Given the description of an element on the screen output the (x, y) to click on. 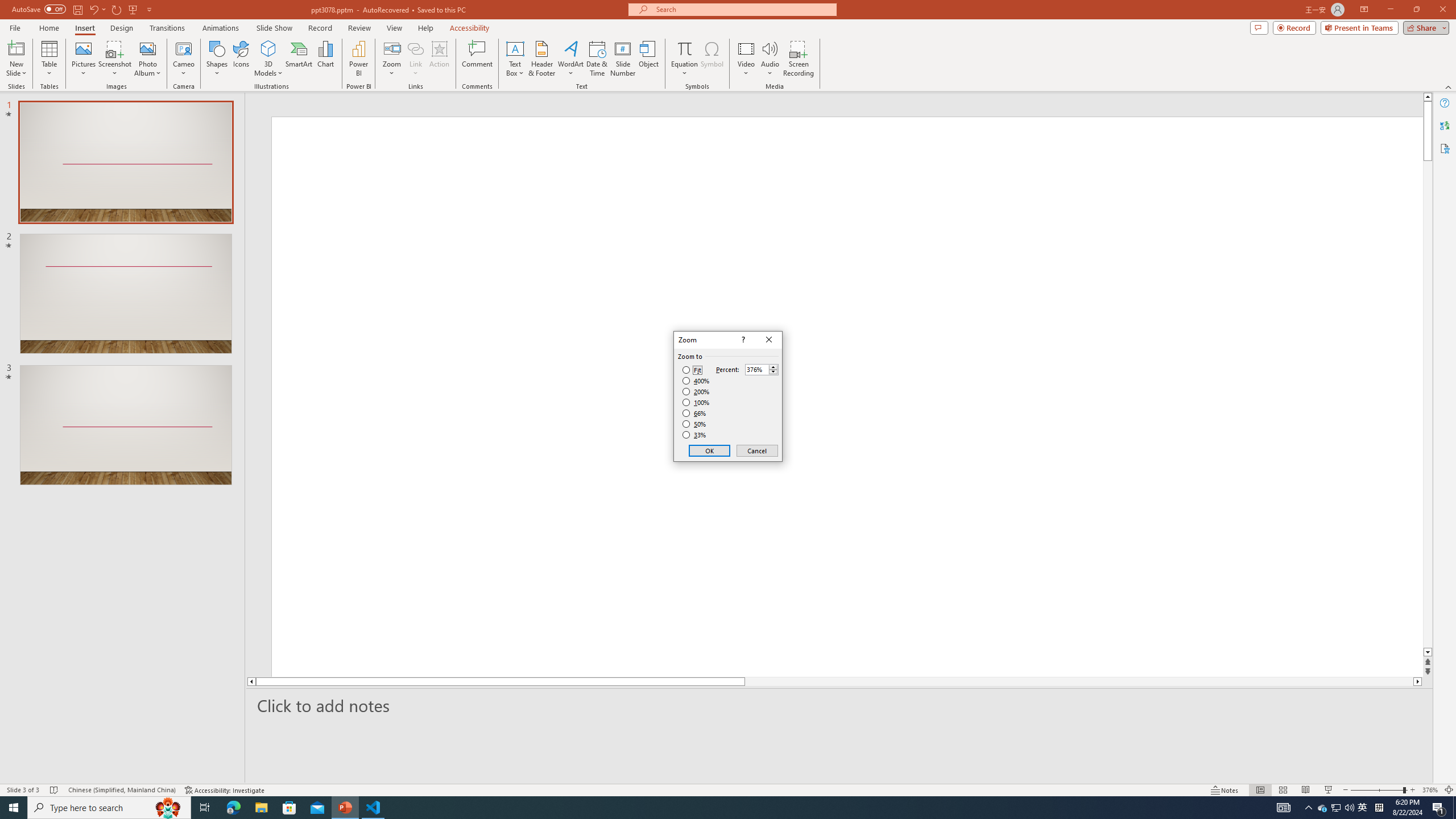
OK (709, 450)
100% (696, 402)
Symbol... (711, 58)
